Given the description of an element on the screen output the (x, y) to click on. 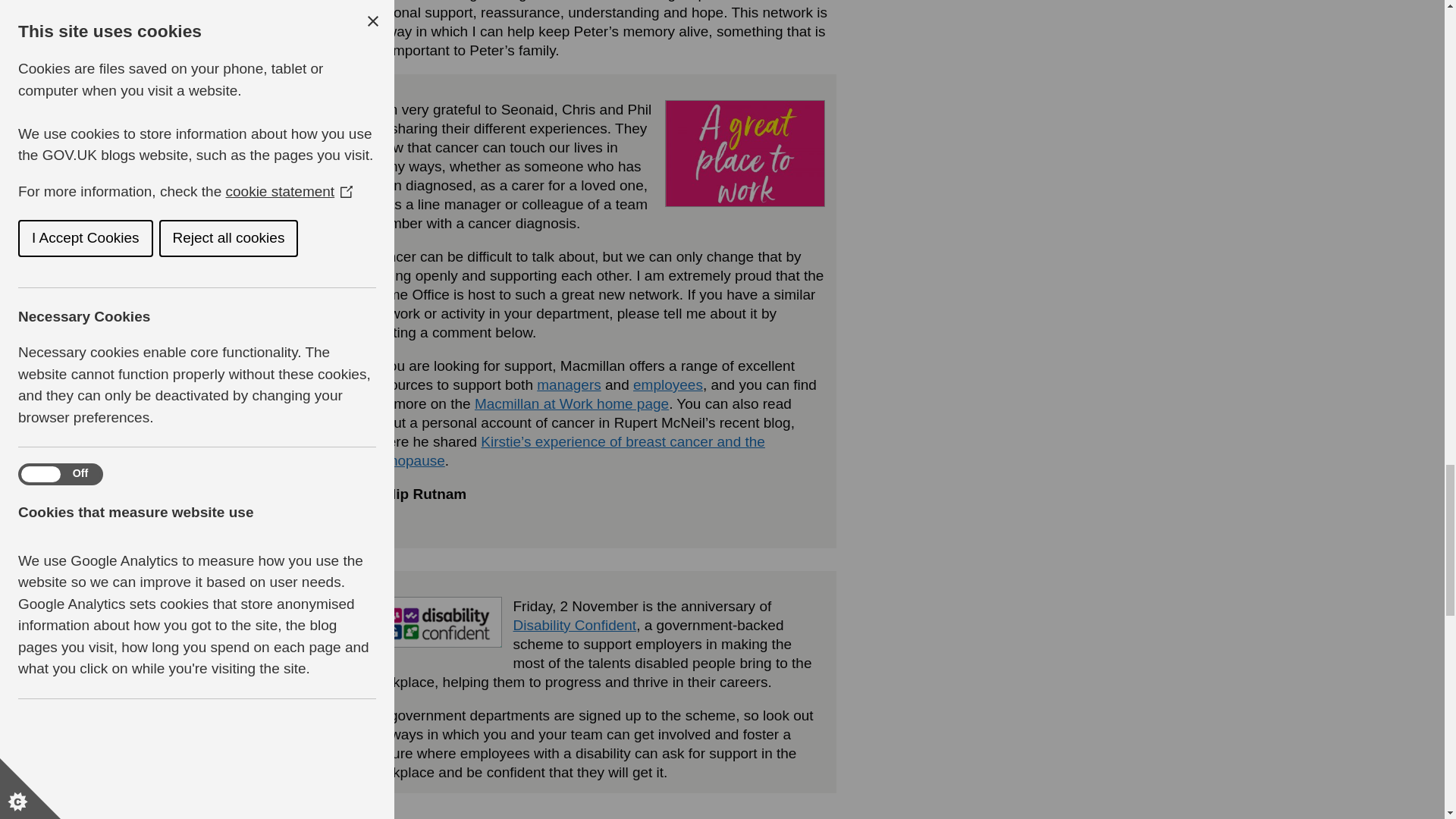
Disability Confident (574, 625)
managers (569, 384)
Macmillan at Work home page (571, 403)
employees (668, 384)
